Given the description of an element on the screen output the (x, y) to click on. 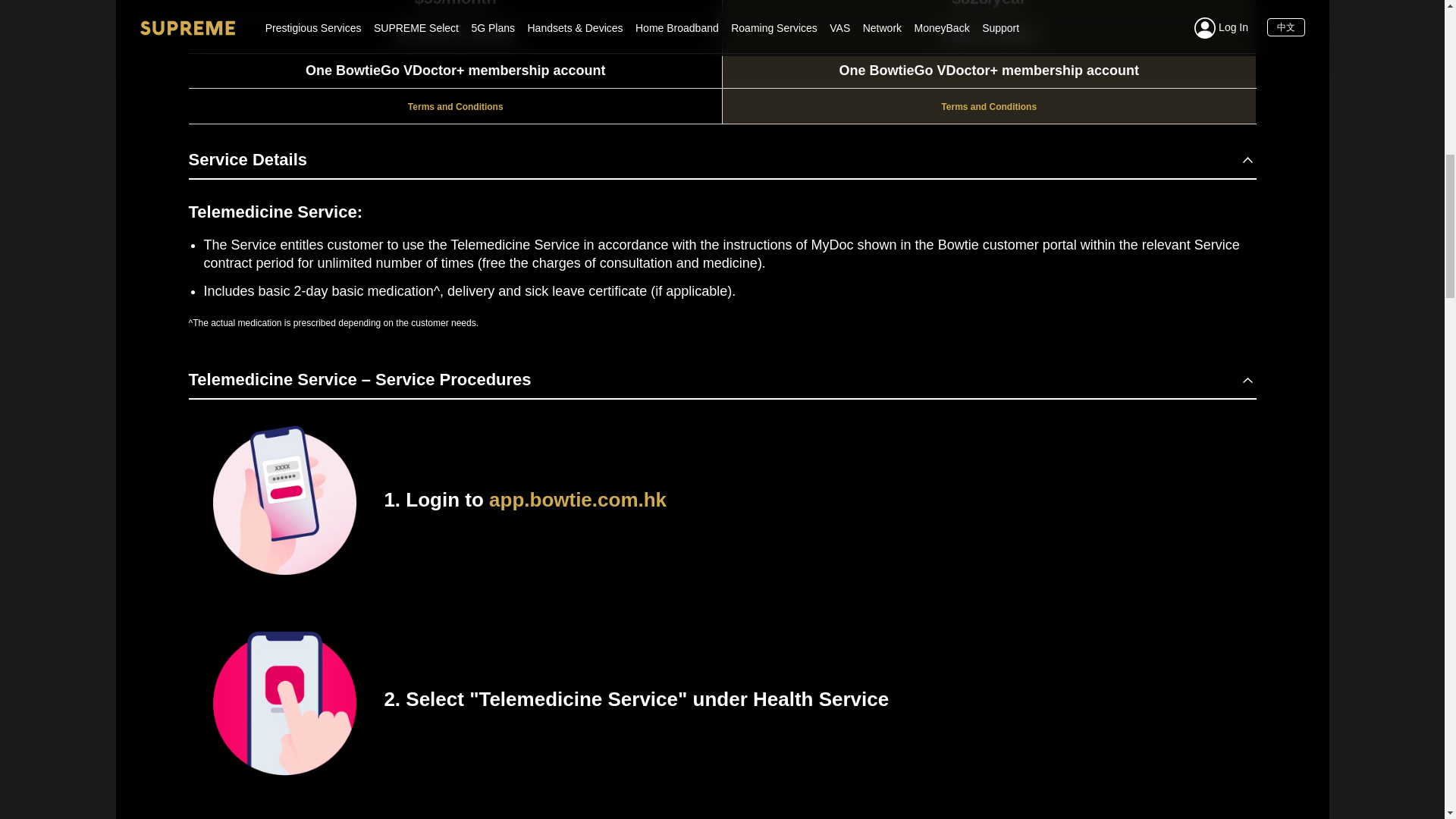
Terms and Conditions (988, 106)
app.bowtie.com.hk (577, 499)
Terms and Conditions (455, 106)
